Given the description of an element on the screen output the (x, y) to click on. 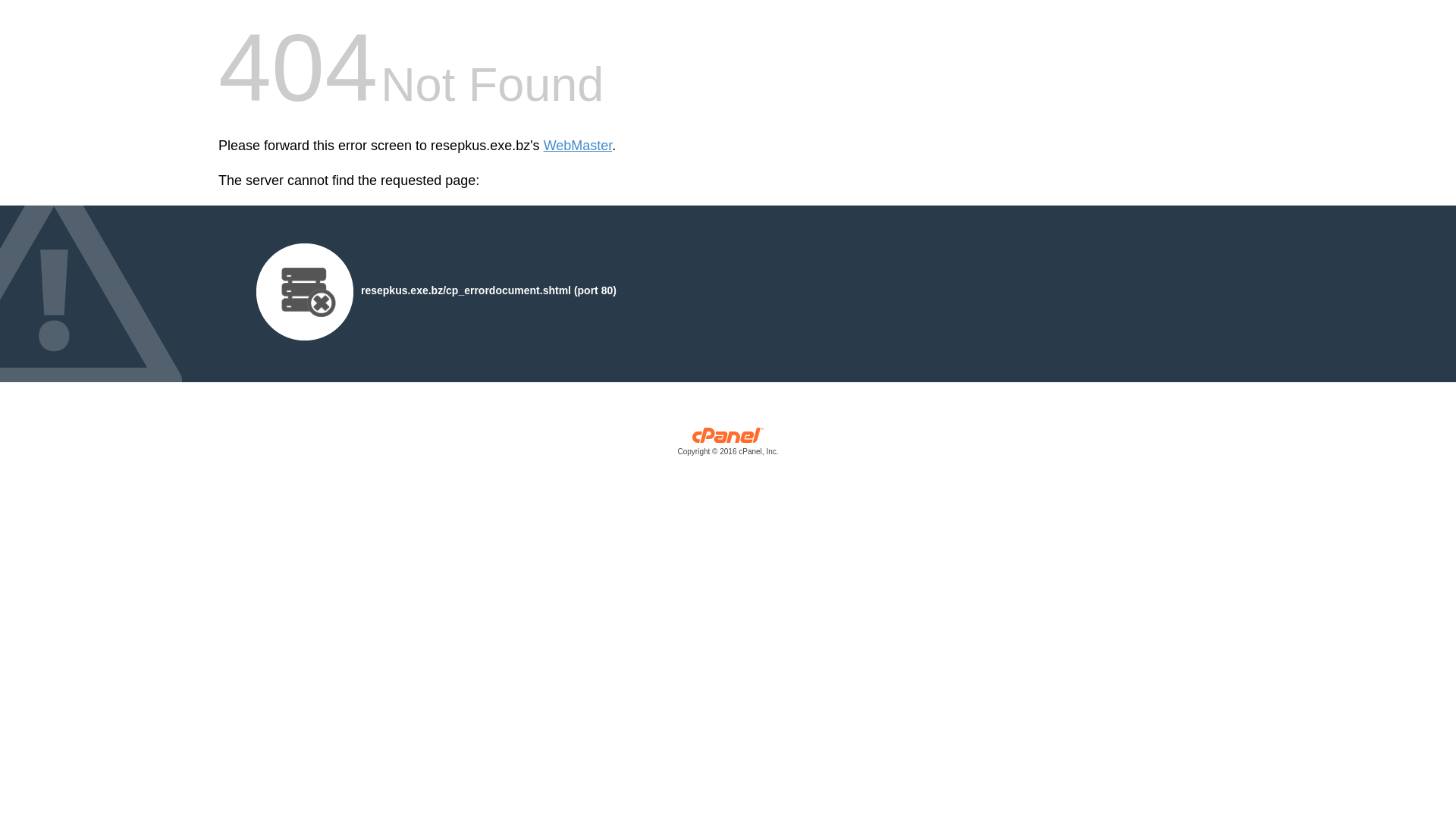
WebMaster Element type: text (577, 145)
